Given the description of an element on the screen output the (x, y) to click on. 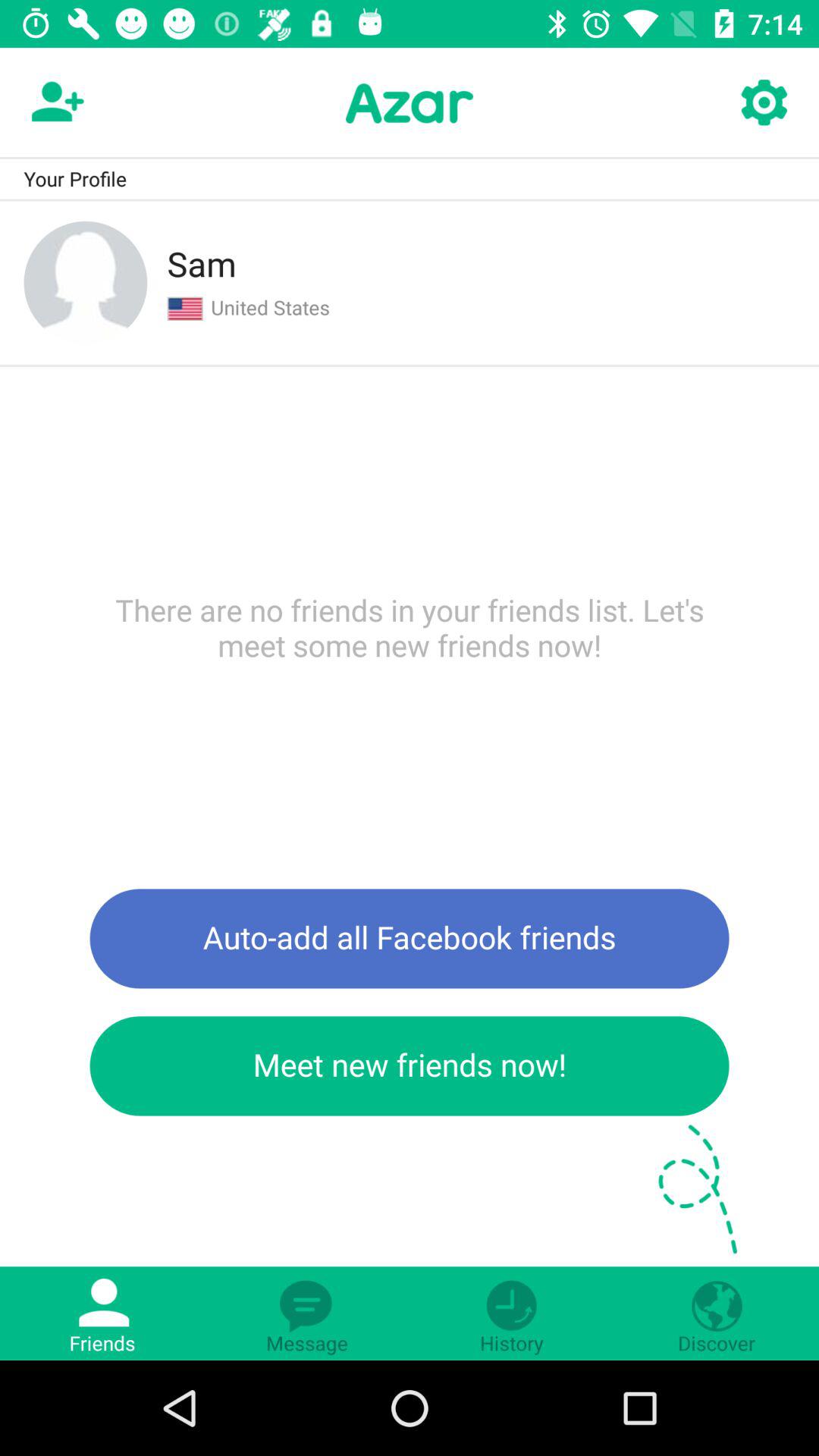
go to setting (763, 103)
